Given the description of an element on the screen output the (x, y) to click on. 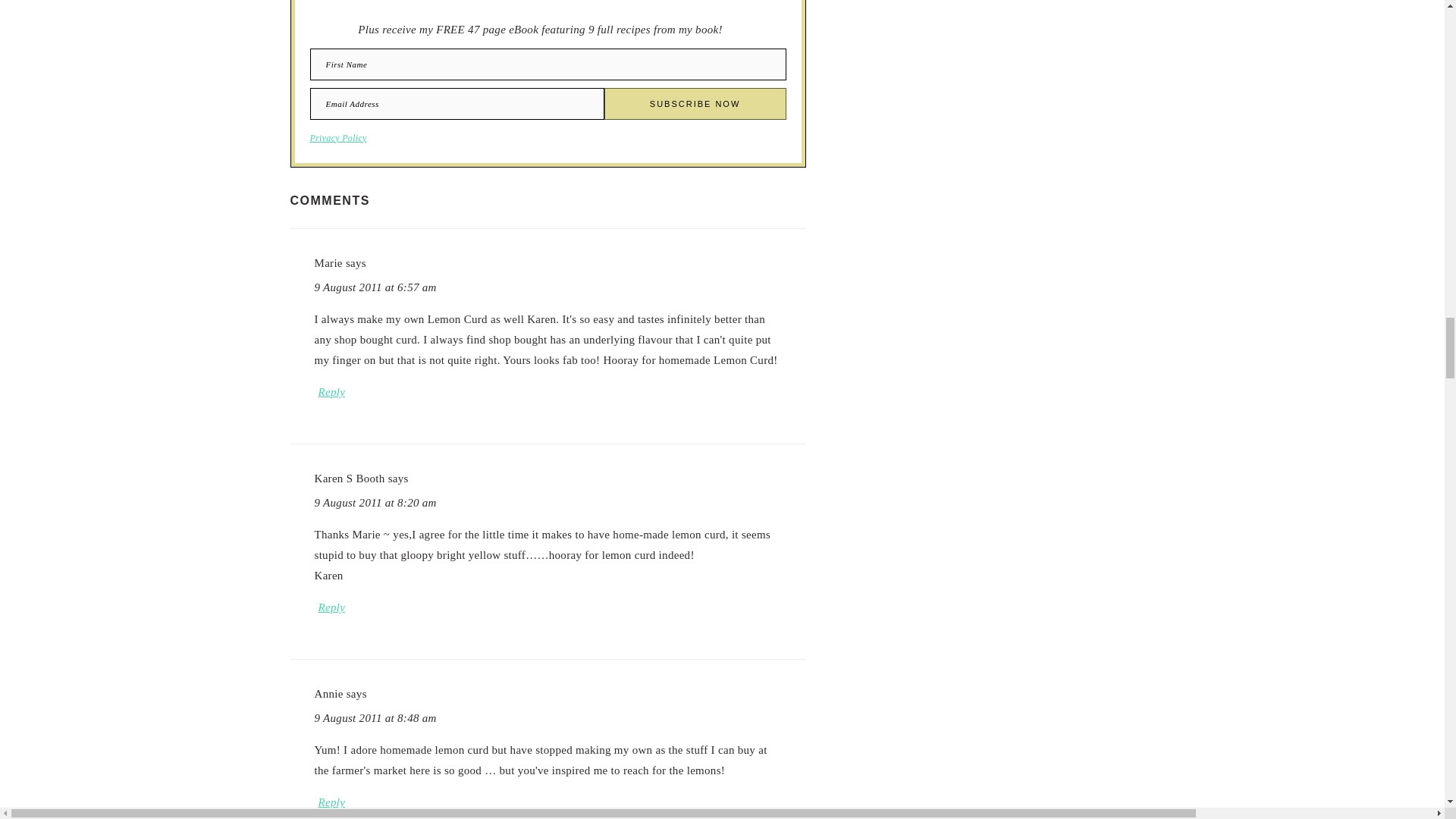
Subscribe Now (695, 103)
